Given the description of an element on the screen output the (x, y) to click on. 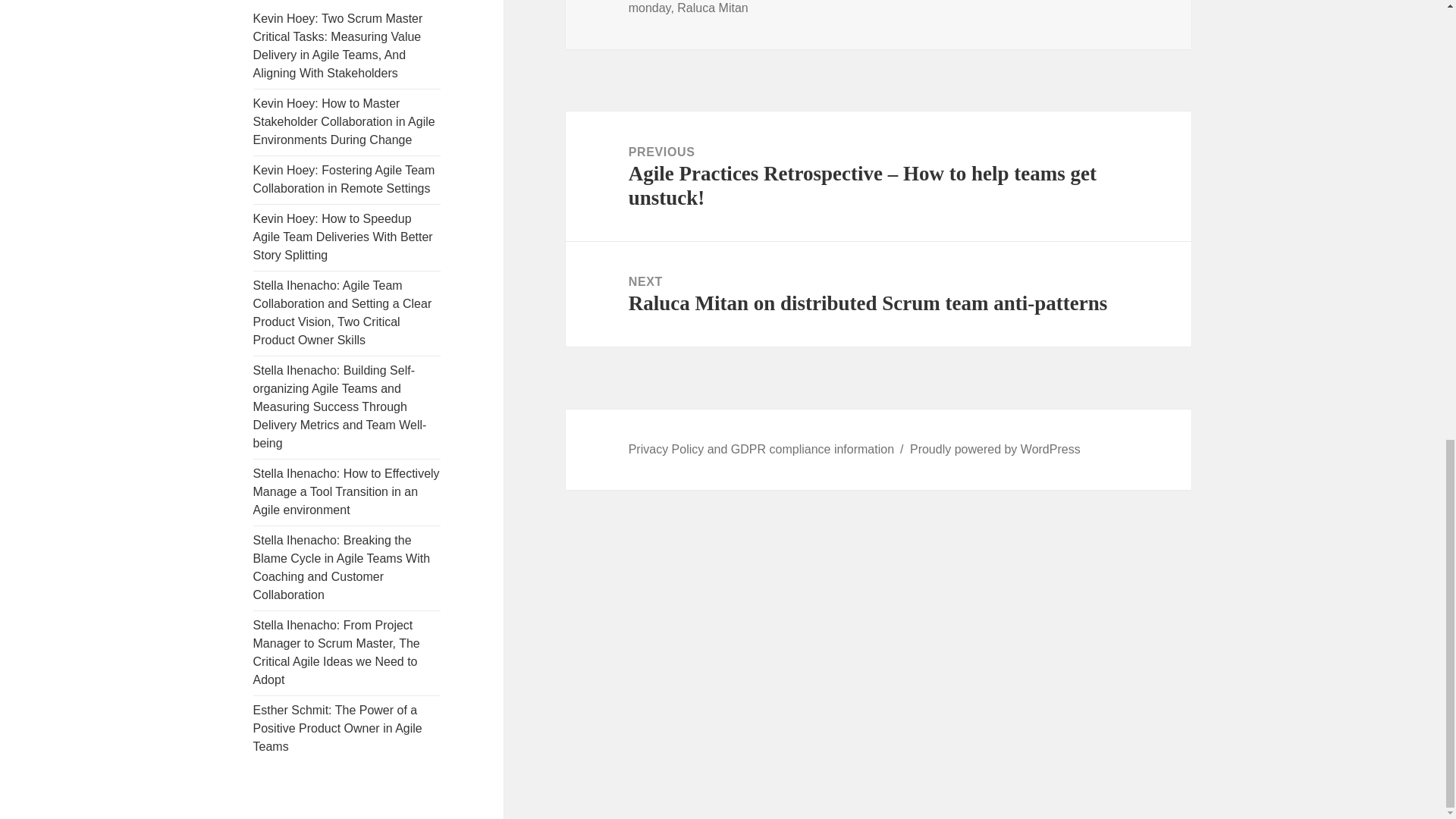
Privacy Policy and GDPR compliance information (760, 449)
Proudly powered by WordPress (995, 449)
monday (649, 8)
Raluca Mitan (712, 8)
